Given the description of an element on the screen output the (x, y) to click on. 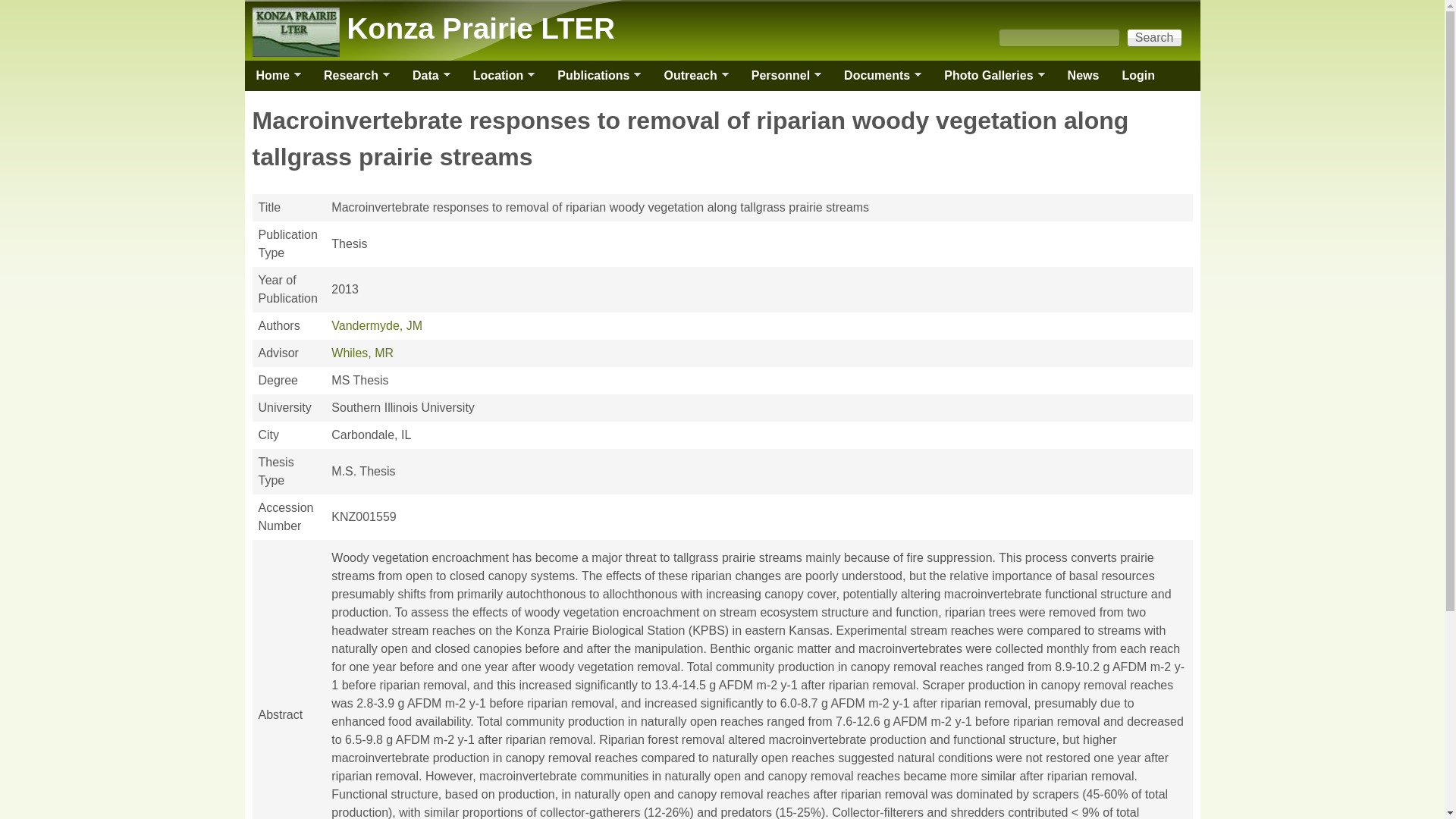
Search (1154, 37)
Home page (480, 28)
Home (271, 75)
Enter the terms you wish to search for. (1058, 37)
Search (1154, 37)
Konza Prairie LTER (480, 28)
